Given the description of an element on the screen output the (x, y) to click on. 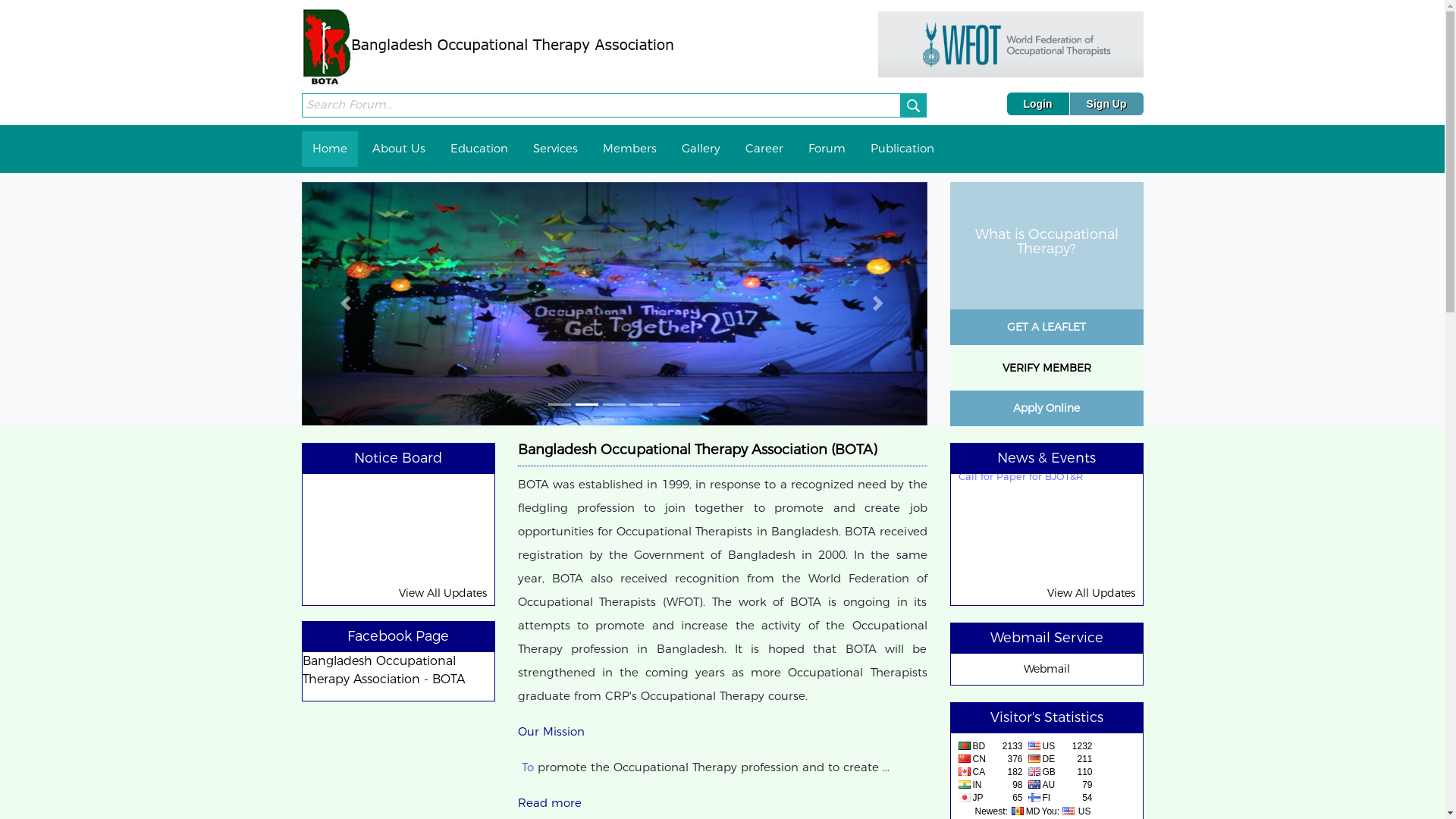
Gallery Element type: text (700, 148)
Home Element type: text (329, 148)
View All Updates Element type: text (1090, 592)
Services Element type: text (554, 148)
GET A LEAFLET Element type: text (1045, 323)
Education Element type: text (478, 148)
Call for Paper for BJOT&R Element type: text (1020, 485)
Invitation for the "BOTA RETREAT PROGRAMME 2020" Element type: text (1037, 426)
About Us Element type: text (397, 148)
Webmail Element type: text (1046, 668)
Career Element type: text (763, 148)
Login Element type: text (1038, 103)
Bangladesh Occupational Therapy Association - BOTA Element type: text (382, 669)
Apply Online Element type: text (1045, 405)
BOTA Member info. Update Element type: text (377, 467)
View All Updates Element type: text (442, 592)
Sign Up Element type: text (1106, 103)
Next Element type: text (880, 304)
Notice for CPE training on Autism Element type: text (391, 417)
Publication Element type: text (901, 148)
Previous Element type: text (348, 304)
Members Element type: text (628, 148)
Read more Element type: text (548, 802)
Forum Element type: text (826, 148)
